Given the description of an element on the screen output the (x, y) to click on. 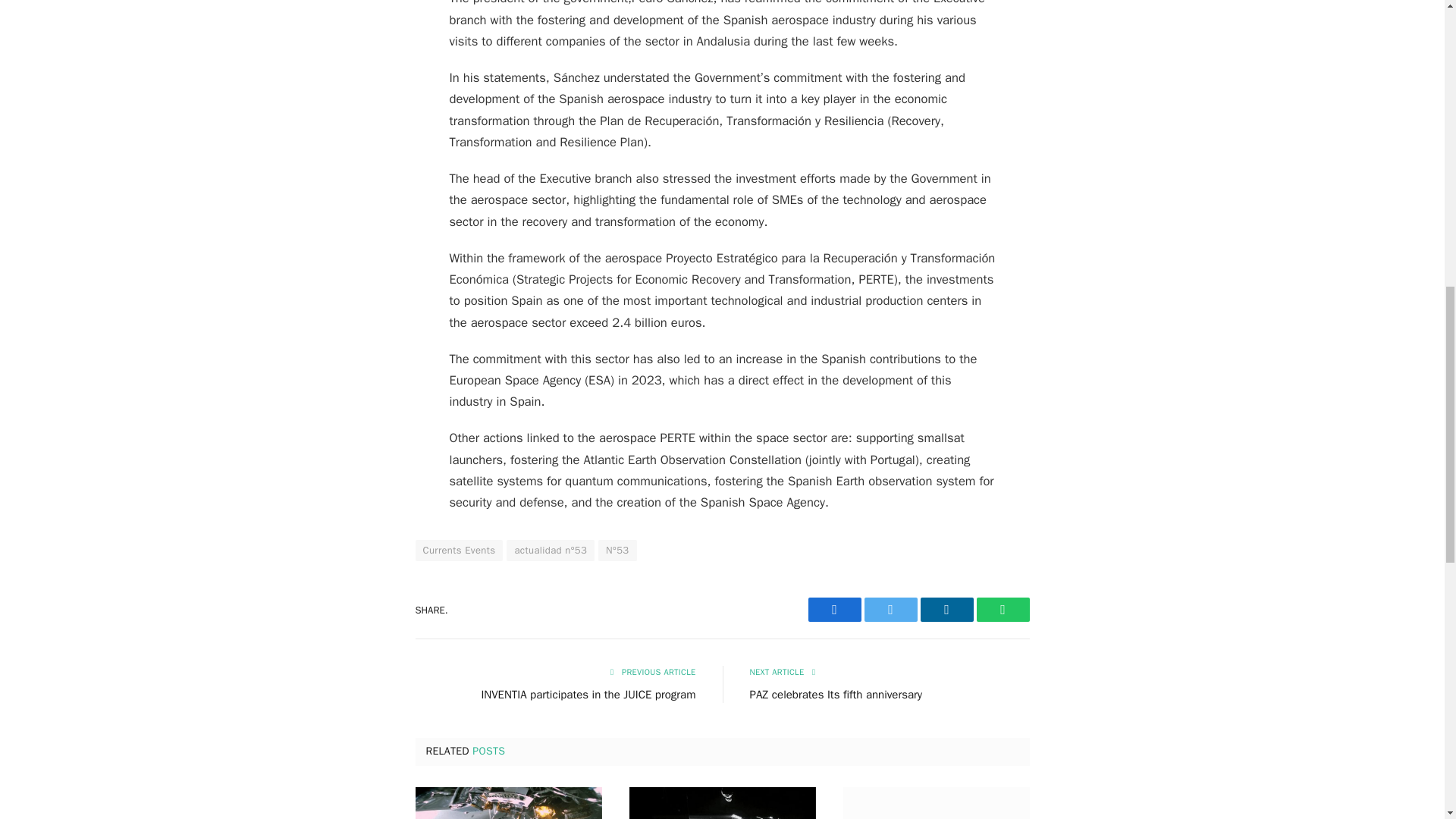
Currents Events (458, 550)
WhatsApp (1002, 609)
INVENTIA participates in the JUICE program (587, 694)
Share on Facebook (834, 609)
Twitter (890, 609)
Facebook (834, 609)
Share on LinkedIn (947, 609)
LinkedIn (947, 609)
